Given the description of an element on the screen output the (x, y) to click on. 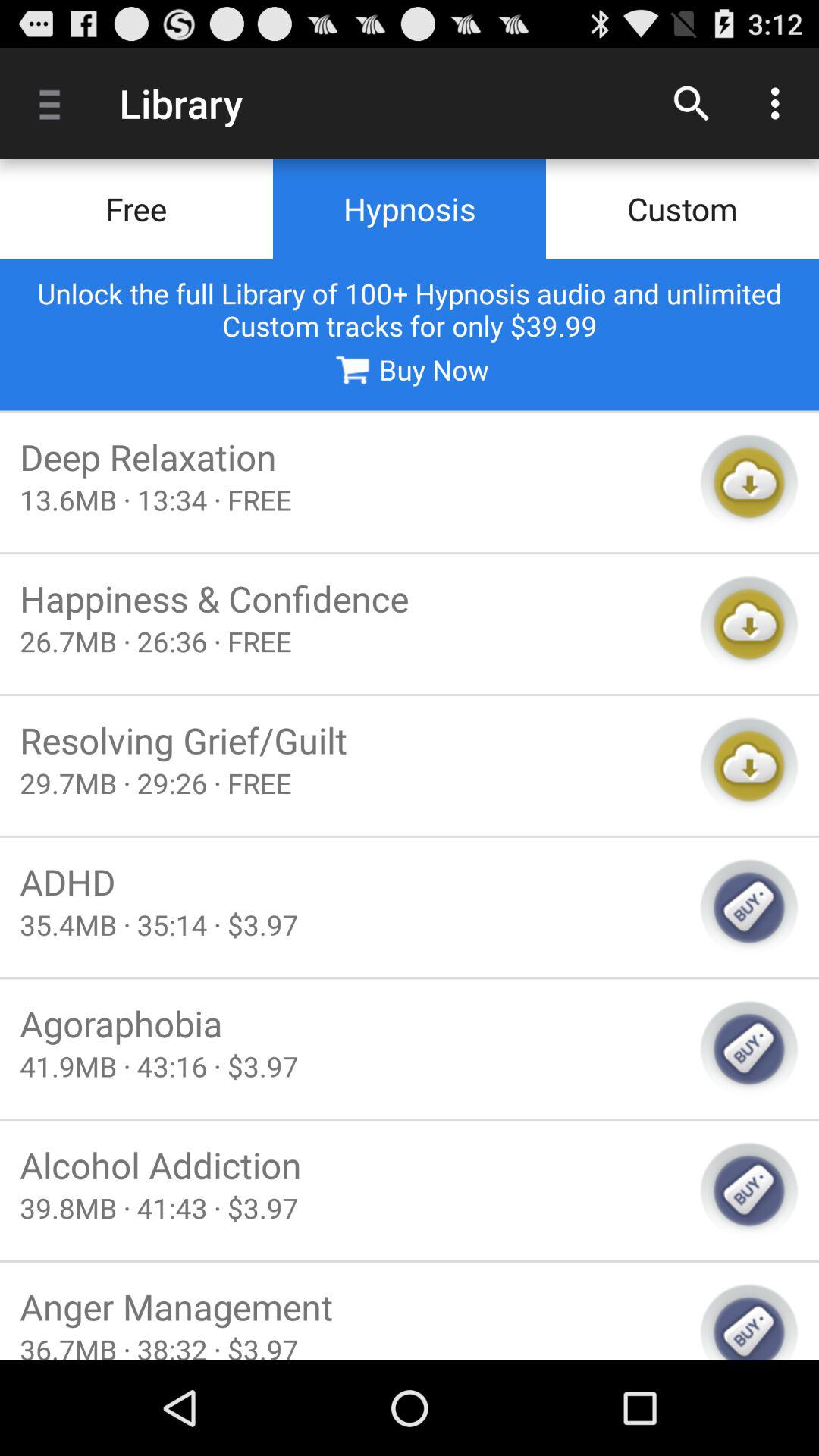
shortcut symbol (749, 765)
